Given the description of an element on the screen output the (x, y) to click on. 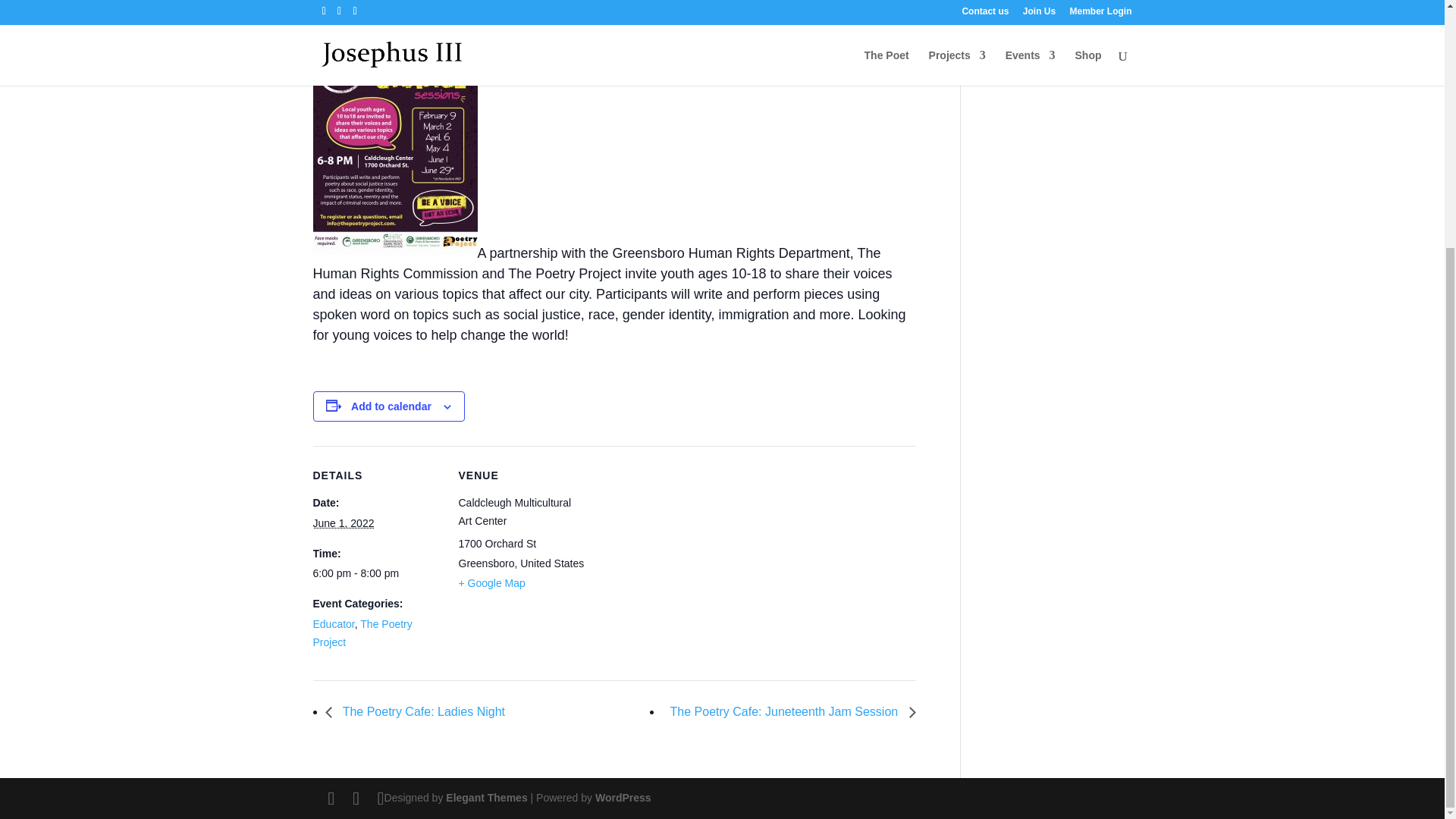
Premium WordPress Themes (486, 797)
Click to view a Google Map (491, 582)
2022-06-01 (376, 574)
Add to calendar (390, 406)
2022-06-01 (343, 522)
